Given the description of an element on the screen output the (x, y) to click on. 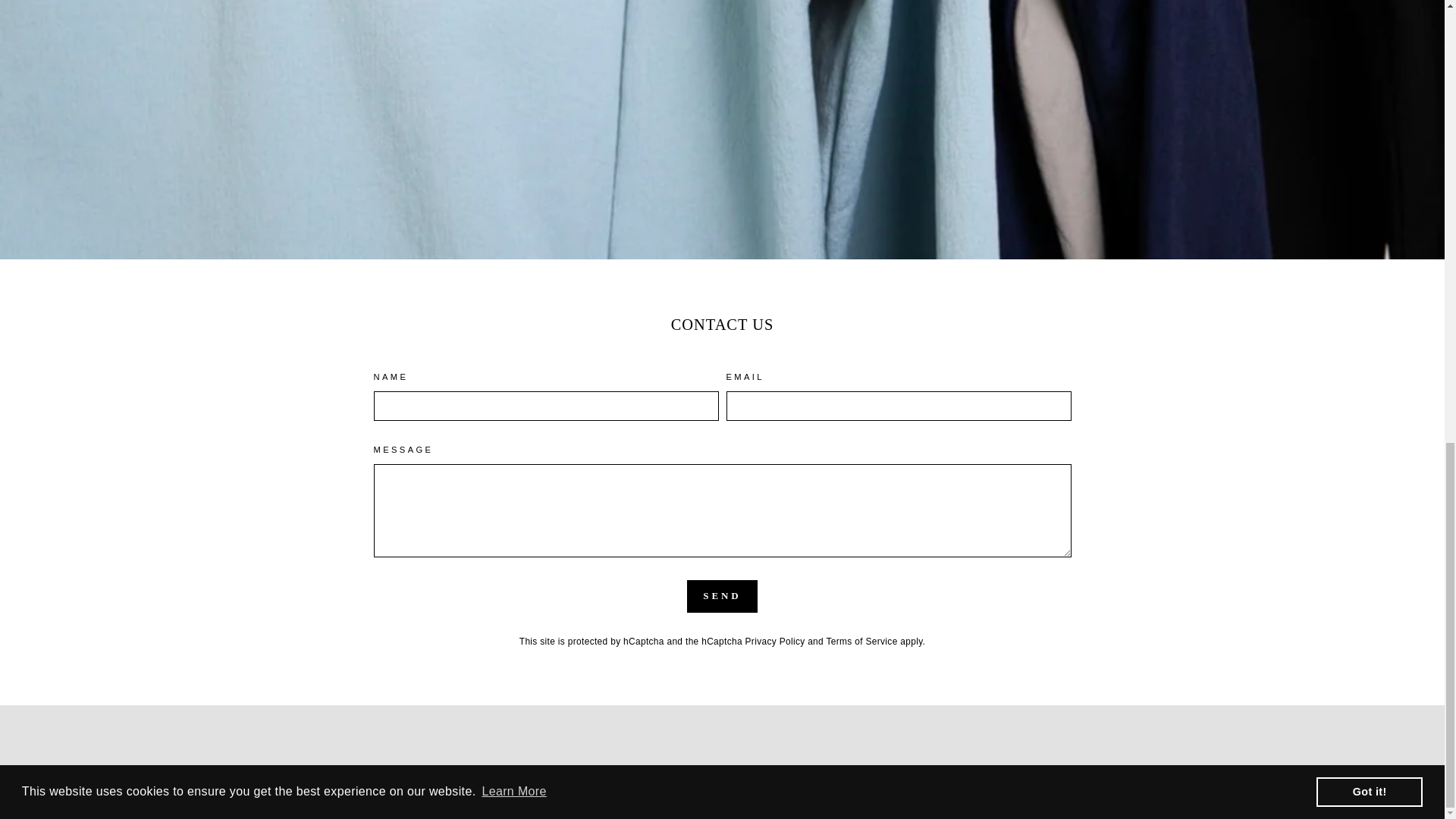
Terms of Service (860, 641)
SEND (722, 595)
Privacy Policy (775, 641)
